Given the description of an element on the screen output the (x, y) to click on. 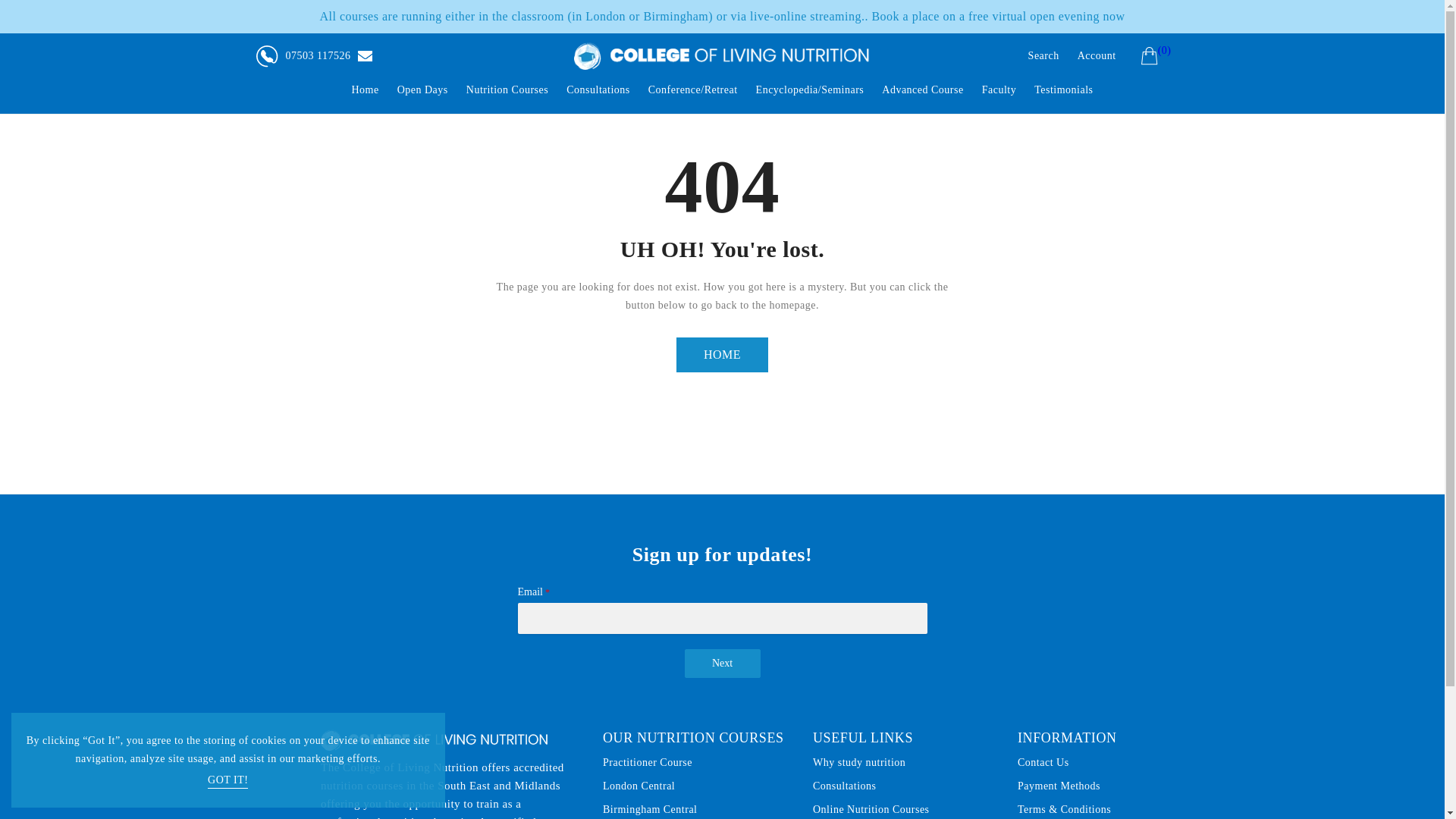
Home (364, 92)
London Central (638, 786)
Advanced Course (923, 92)
Birmingham Central (649, 809)
Why study nutrition (858, 762)
Practitioner Course (647, 762)
Payment Methods (1058, 786)
Faculty (999, 92)
Next (722, 663)
Testimonials (1063, 92)
07503 117526 (303, 56)
Open Days (422, 92)
Consultations (844, 786)
SKIP TO CONTENT (10, 7)
HOME (722, 354)
